Given the description of an element on the screen output the (x, y) to click on. 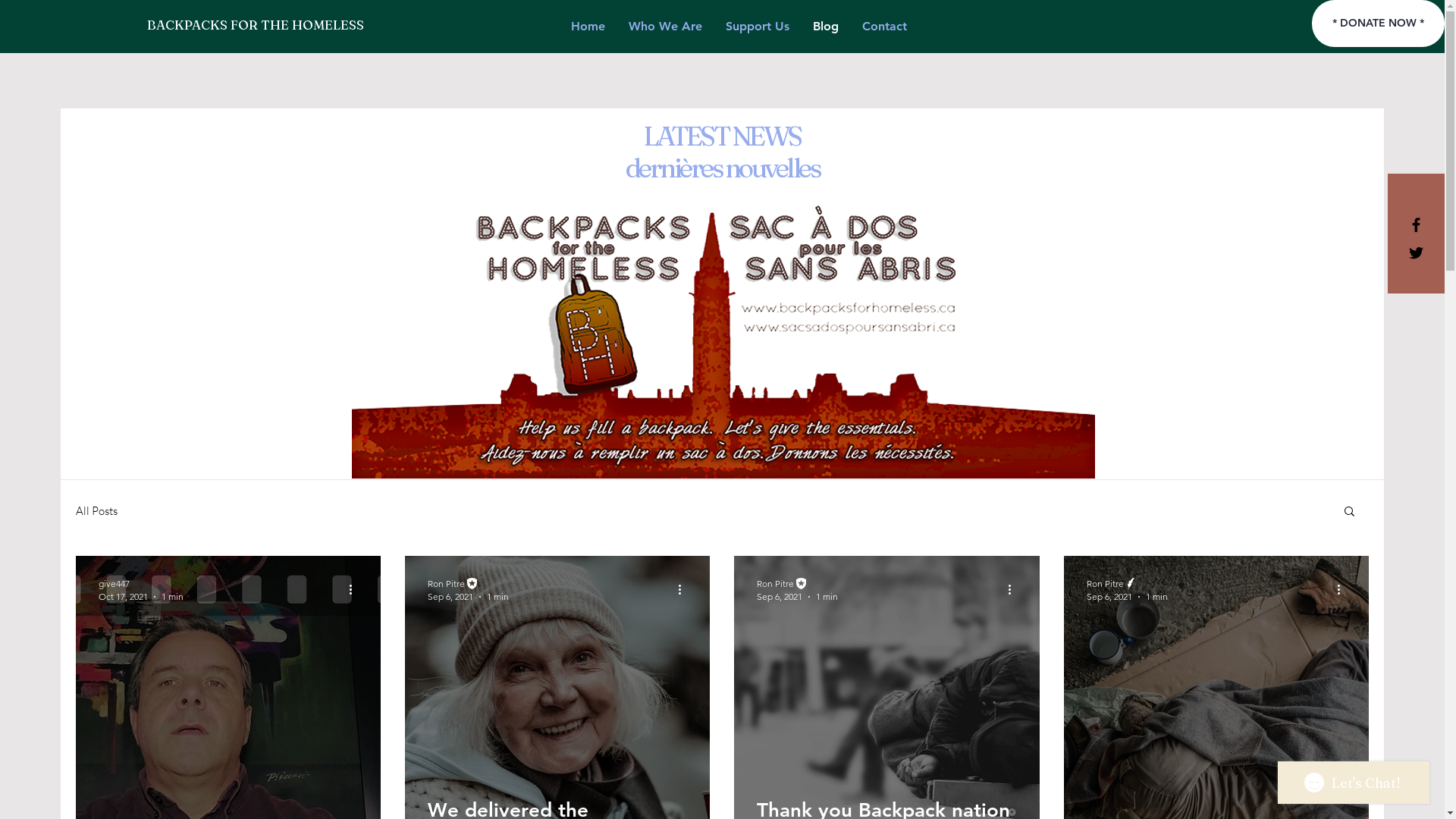
All Posts Element type: text (96, 510)
BACKPACKS FOR THE HOMELESS Element type: text (255, 24)
Blog Element type: text (824, 26)
Home Element type: text (587, 26)
Support Us Element type: text (757, 26)
Who We Are Element type: text (665, 26)
* DONATE NOW * Element type: text (1377, 23)
Contact Element type: text (884, 26)
